Given the description of an element on the screen output the (x, y) to click on. 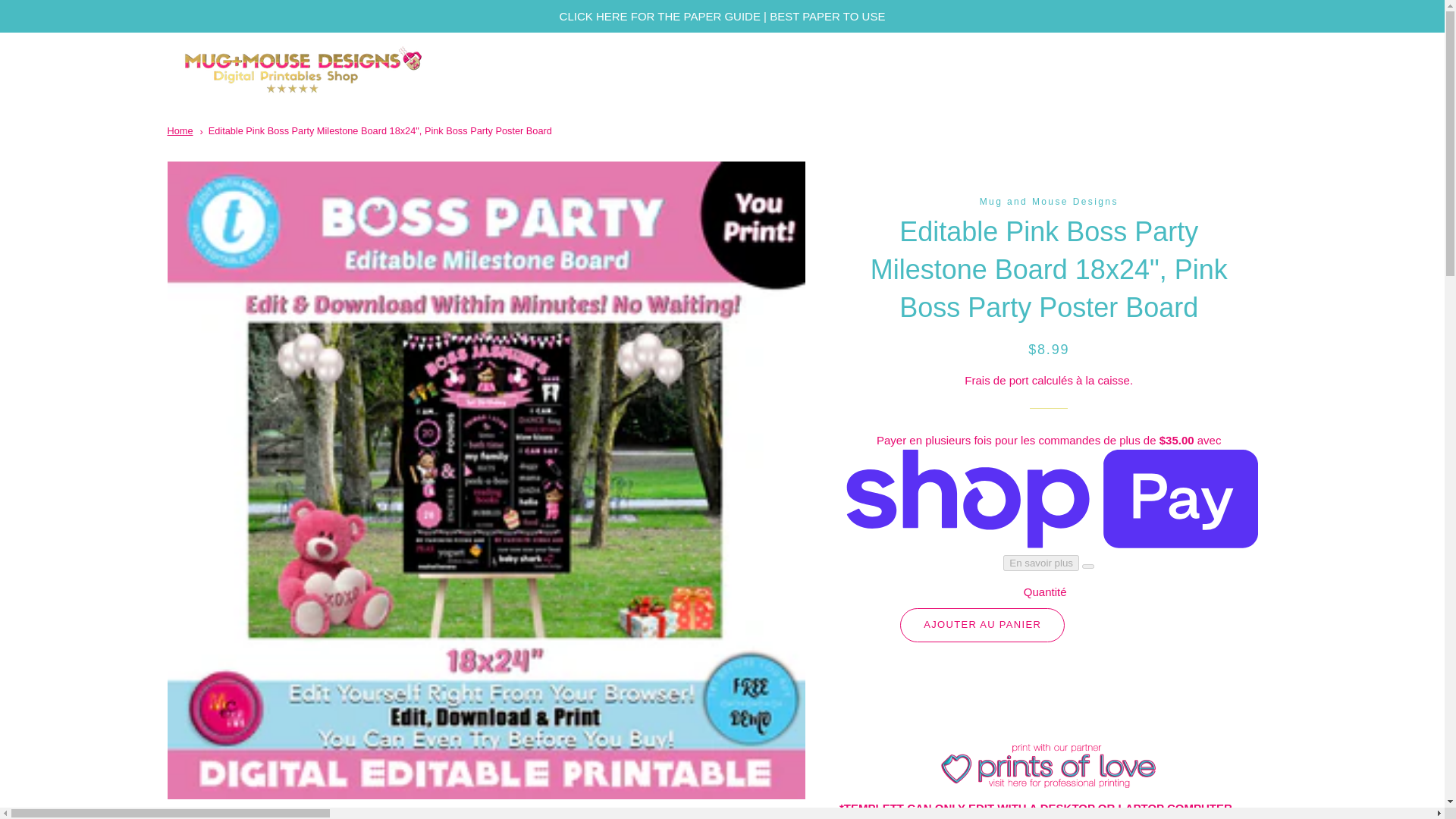
Home (179, 130)
